Given the description of an element on the screen output the (x, y) to click on. 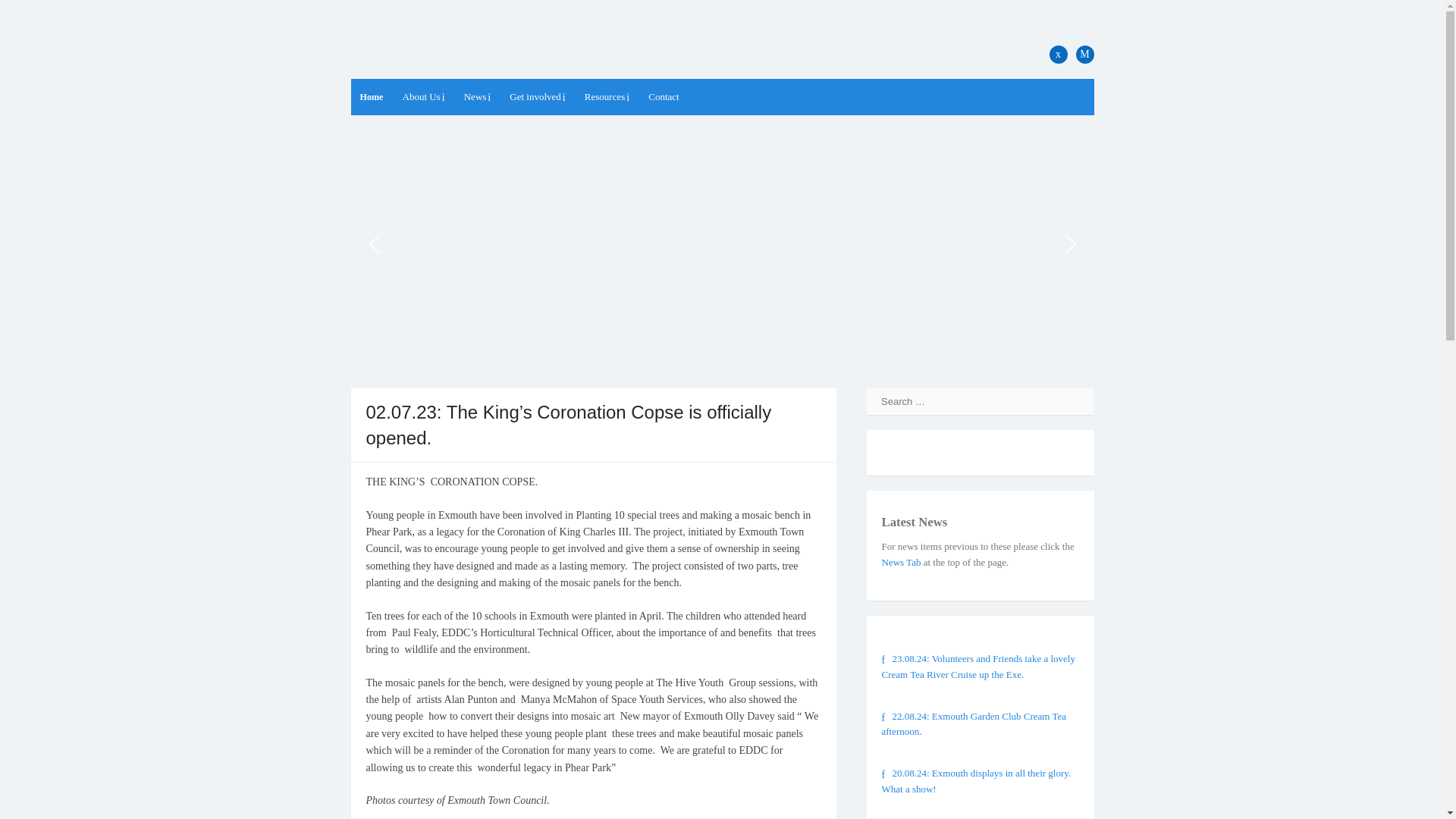
Contact (663, 96)
News Tab (900, 562)
20.08.24: Exmouth displays in all their glory. What a show! (975, 780)
About Us (423, 96)
22.08.24: Exmouth Garden Club Cream Tea afternoon. (972, 723)
News (477, 96)
Get involved (537, 96)
Home (370, 96)
Search (30, 12)
Resources (607, 96)
